Given the description of an element on the screen output the (x, y) to click on. 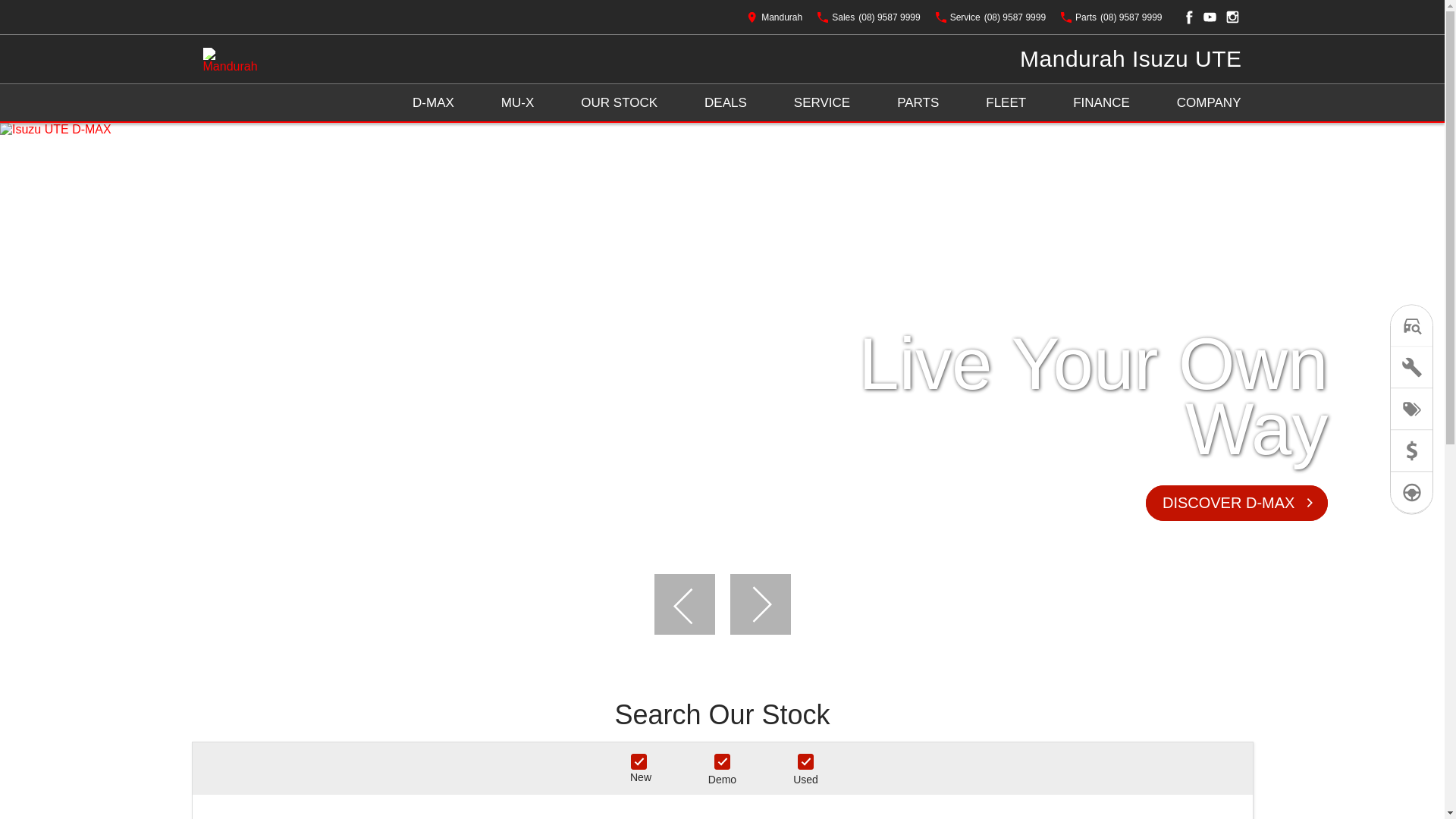
MU-X Element type: text (517, 102)
Previous Element type: text (683, 604)
Next Element type: text (759, 604)
Sales
(08) 9587 9999 Element type: text (868, 16)
Service
(08) 9587 9999 Element type: text (990, 16)
FINANCE Element type: text (1101, 102)
PARTS Element type: text (917, 102)
Mandurah Isuzu UTE Element type: text (1130, 59)
DEALS Element type: text (725, 102)
Live Your Own Way
DISCOVER D-MAX Element type: text (722, 385)
Mandurah Element type: text (774, 16)
COMPANY Element type: text (1208, 102)
FLEET Element type: text (1005, 102)
D-MAX Element type: text (433, 102)
OUR STOCK Element type: text (618, 102)
SERVICE Element type: text (821, 102)
Parts
(08) 9587 9999 Element type: text (1110, 16)
